Given the description of an element on the screen output the (x, y) to click on. 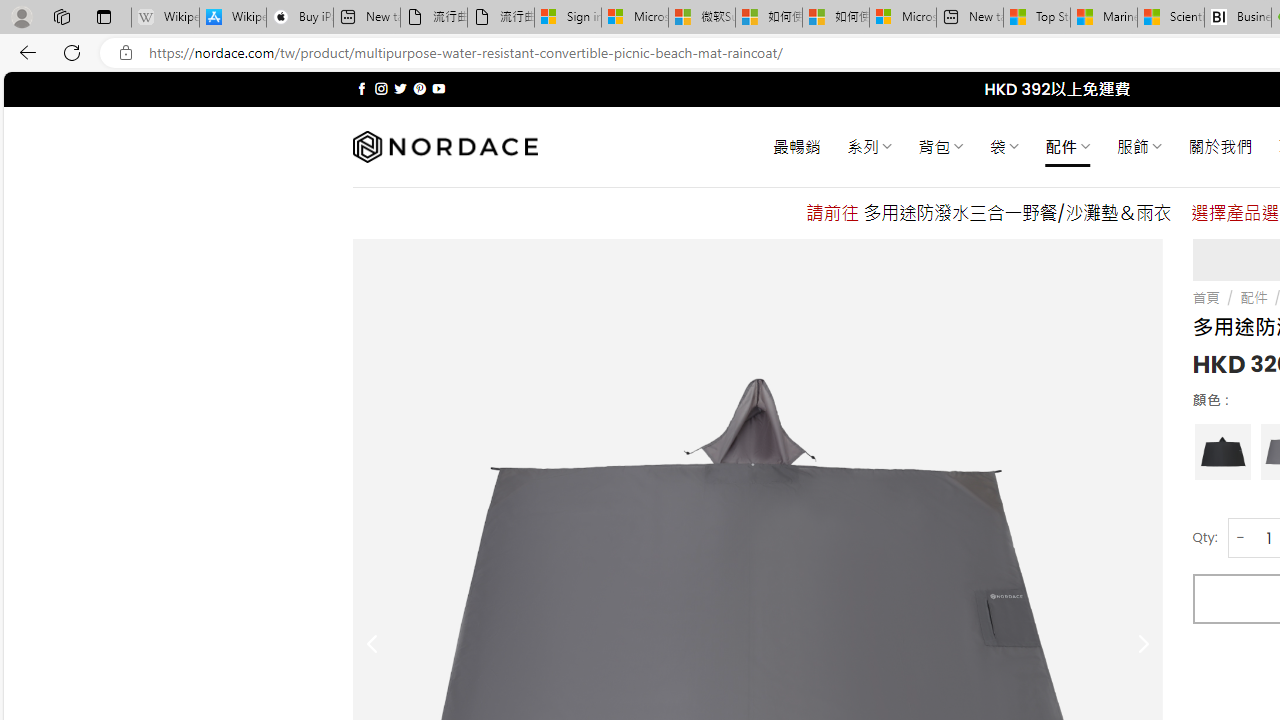
Follow on YouTube (438, 88)
Follow on Facebook (361, 88)
